Given the description of an element on the screen output the (x, y) to click on. 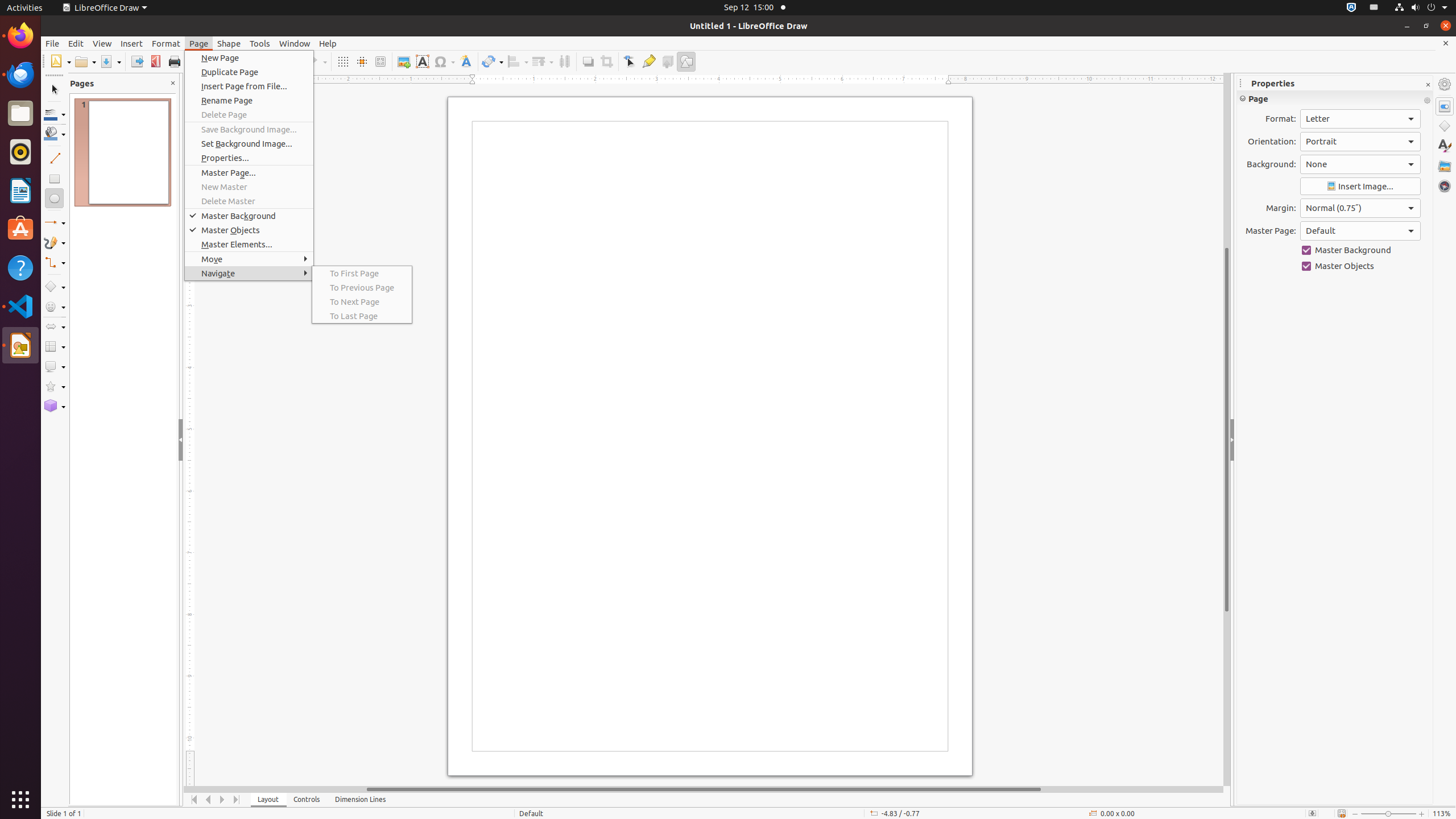
Layout Element type: page-tab (268, 799)
Symbol Element type: push-button (443, 61)
Dimension Lines Element type: page-tab (360, 799)
System Element type: menu (1420, 7)
Move Left Element type: push-button (208, 799)
